Given the description of an element on the screen output the (x, y) to click on. 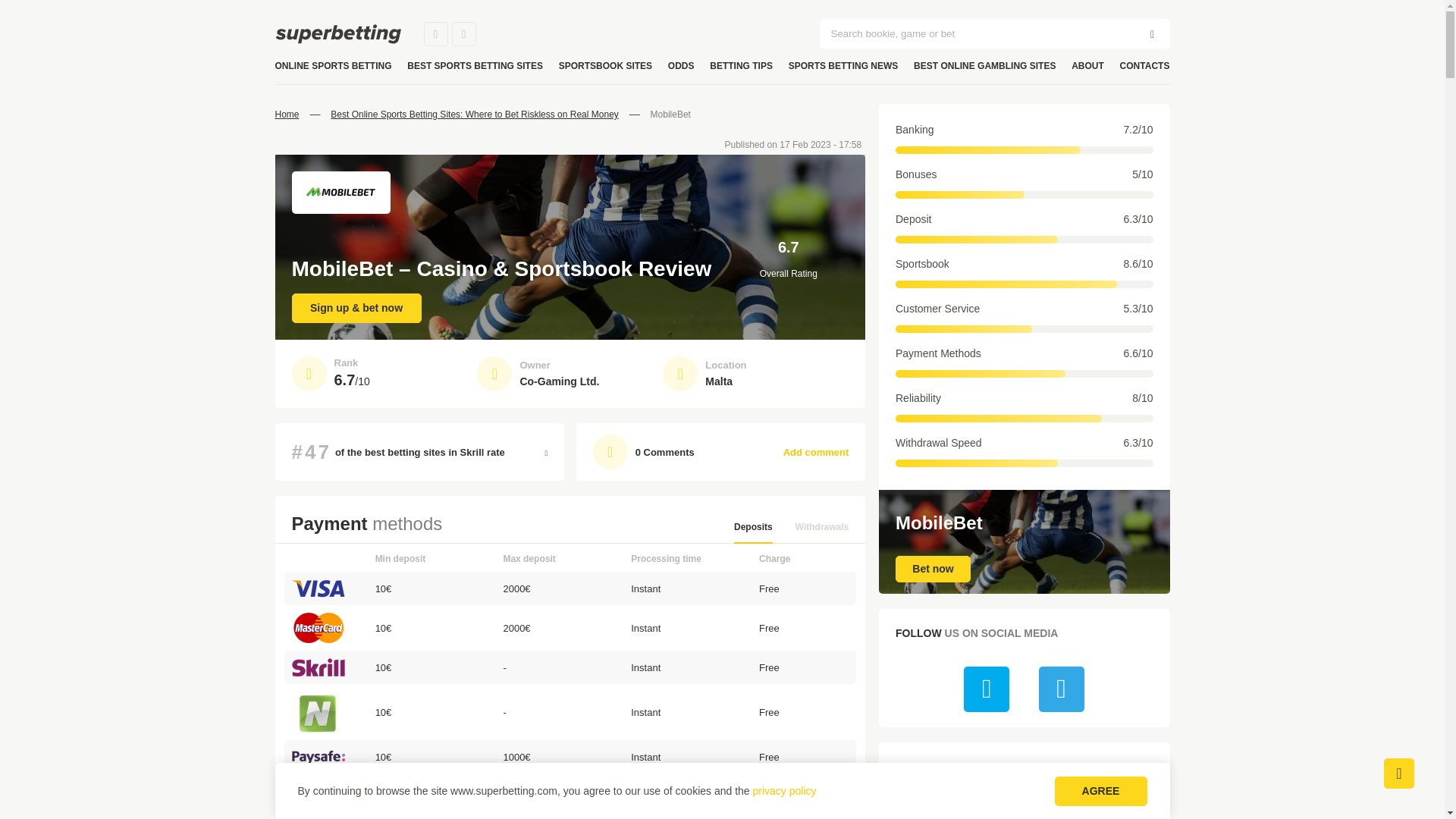
ONLINE SPORTS BETTING (333, 66)
BEST SPORTS BETTING SITES (475, 66)
Superbetting (337, 34)
